Given the description of an element on the screen output the (x, y) to click on. 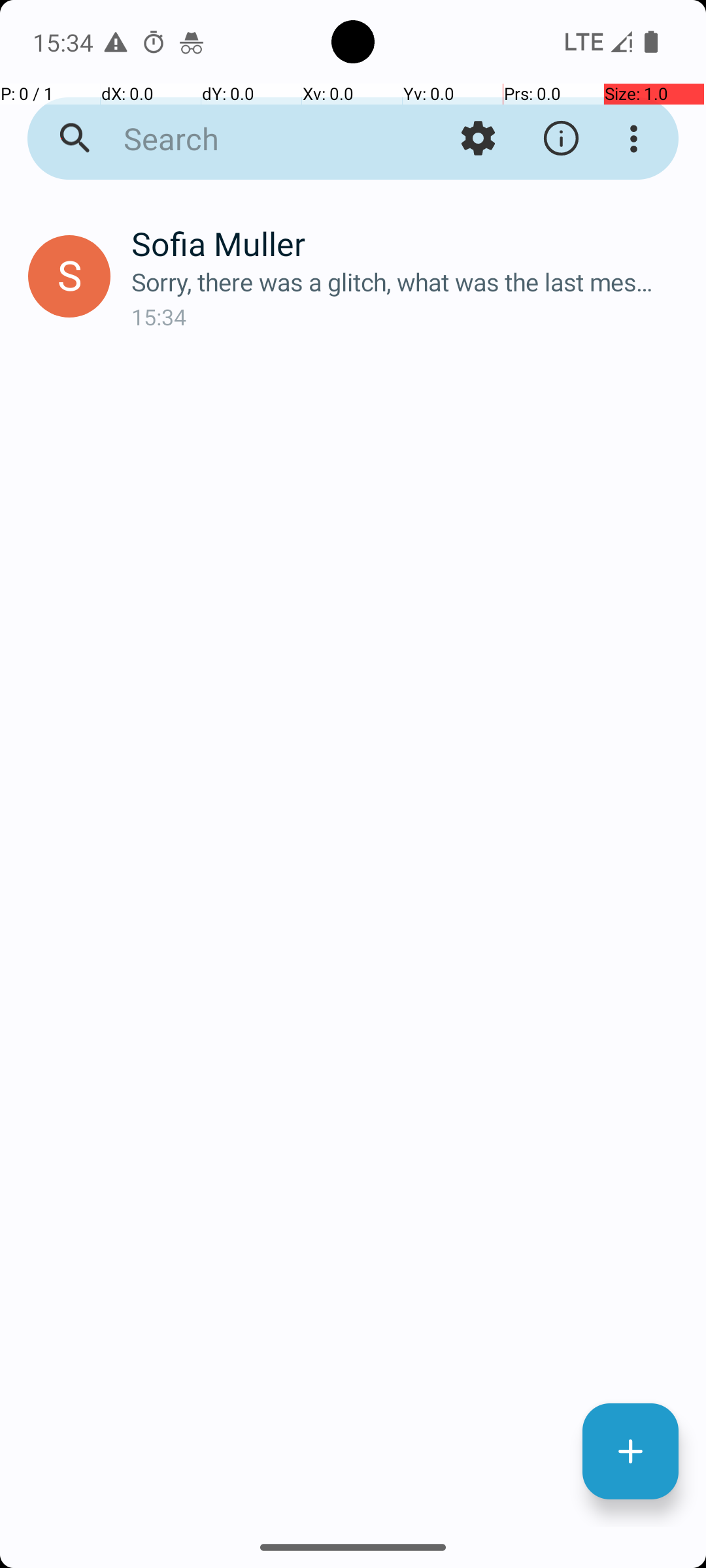
Sofia Muller Element type: android.widget.TextView (408, 242)
